Given the description of an element on the screen output the (x, y) to click on. 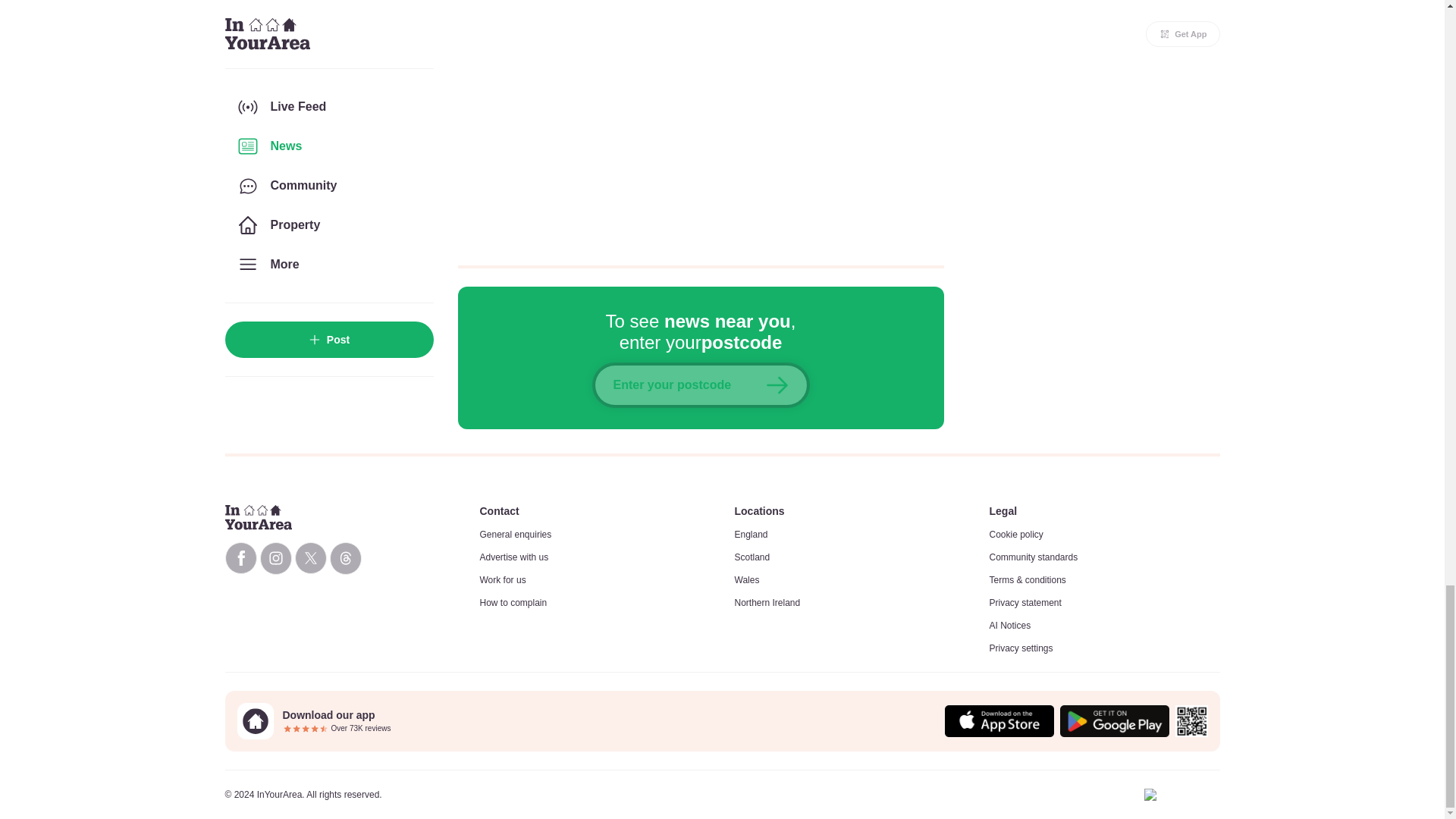
InYourArea Threads (345, 558)
InYourArea X (310, 558)
InYourArea Instagram (275, 558)
InYourArea Facebook (240, 558)
comments (701, 122)
